Given the description of an element on the screen output the (x, y) to click on. 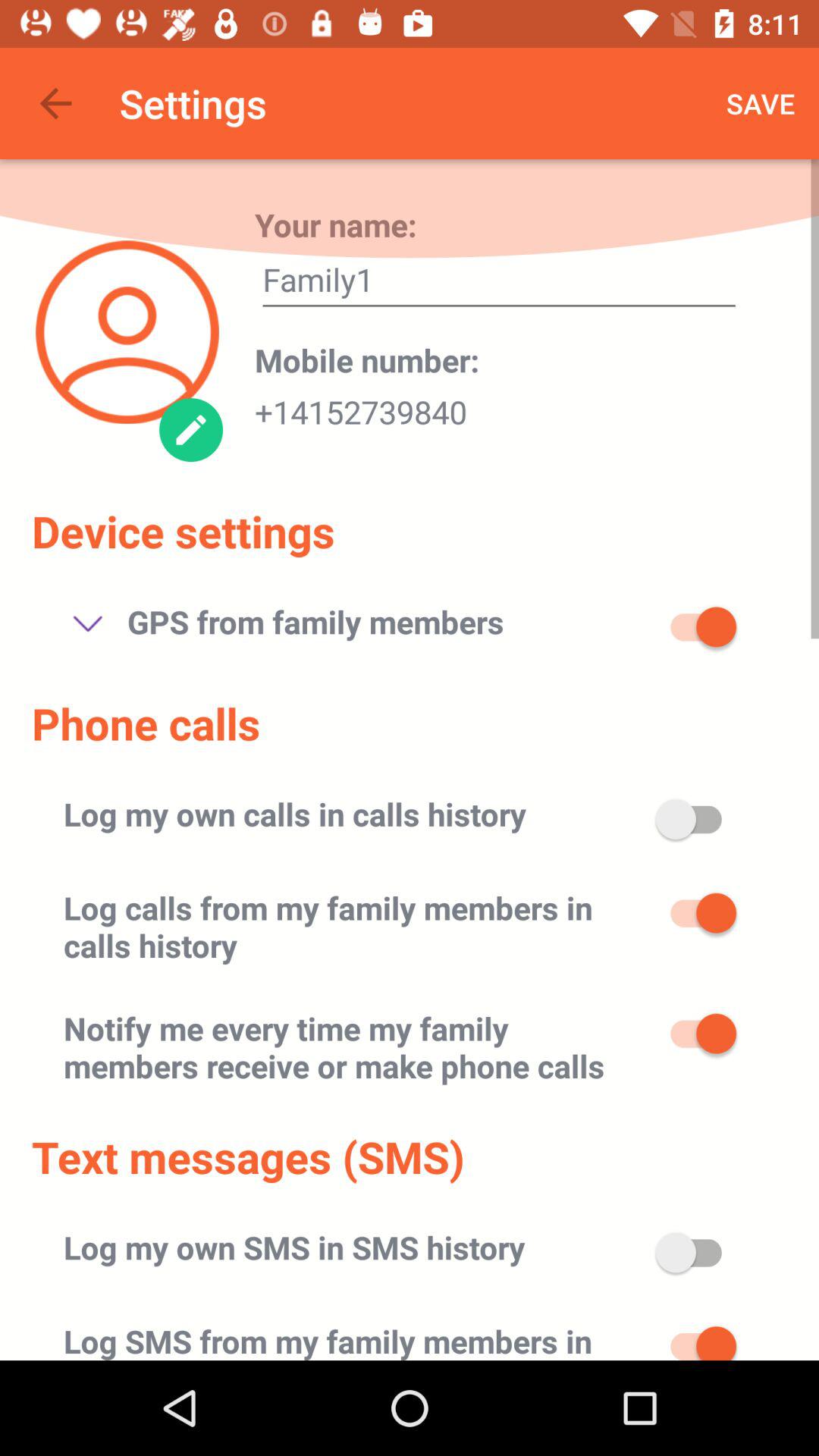
flip to +14152739840 (360, 407)
